Given the description of an element on the screen output the (x, y) to click on. 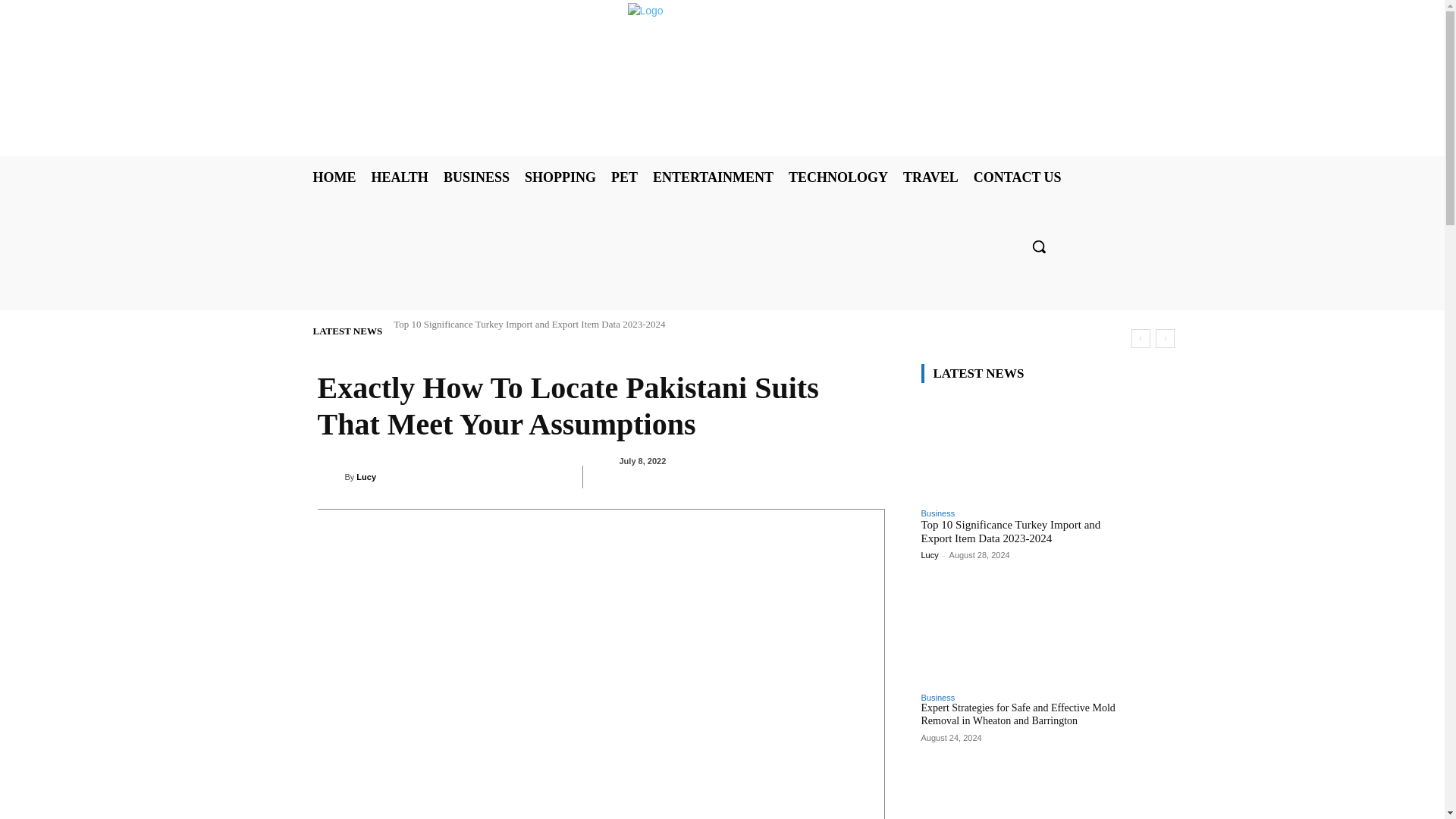
PET (624, 177)
ENTERTAINMENT (712, 177)
BUSINESS (476, 177)
SHOPPING (560, 177)
CONTACT US (1017, 177)
HEALTH (399, 177)
HOME (333, 177)
TRAVEL (929, 177)
